Given the description of an element on the screen output the (x, y) to click on. 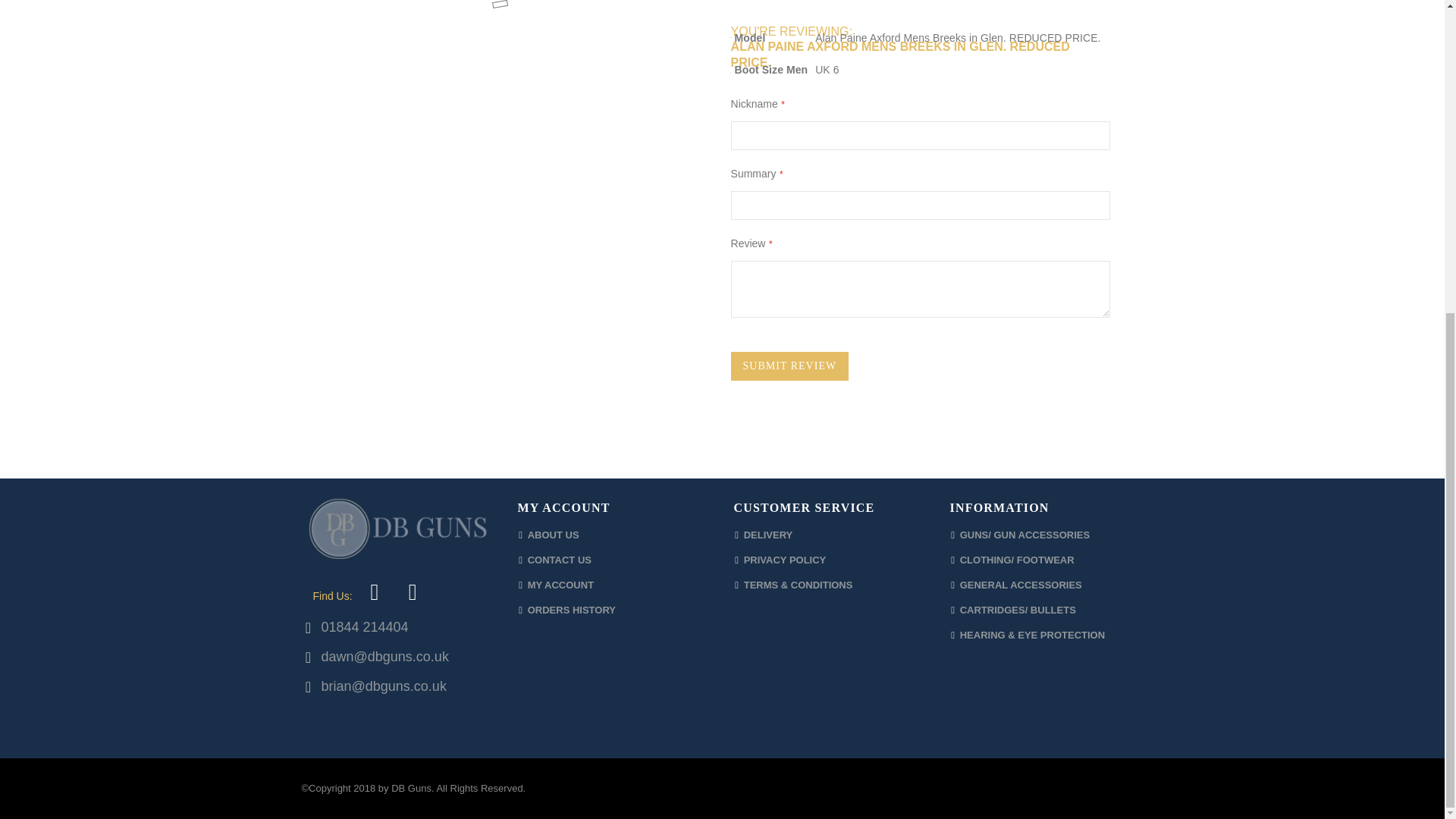
About us (553, 534)
My account (560, 584)
Orders history (571, 609)
Facebook (374, 591)
Contact us (559, 559)
Instagram (412, 591)
SUBMIT REVIEW (789, 366)
